Given the description of an element on the screen output the (x, y) to click on. 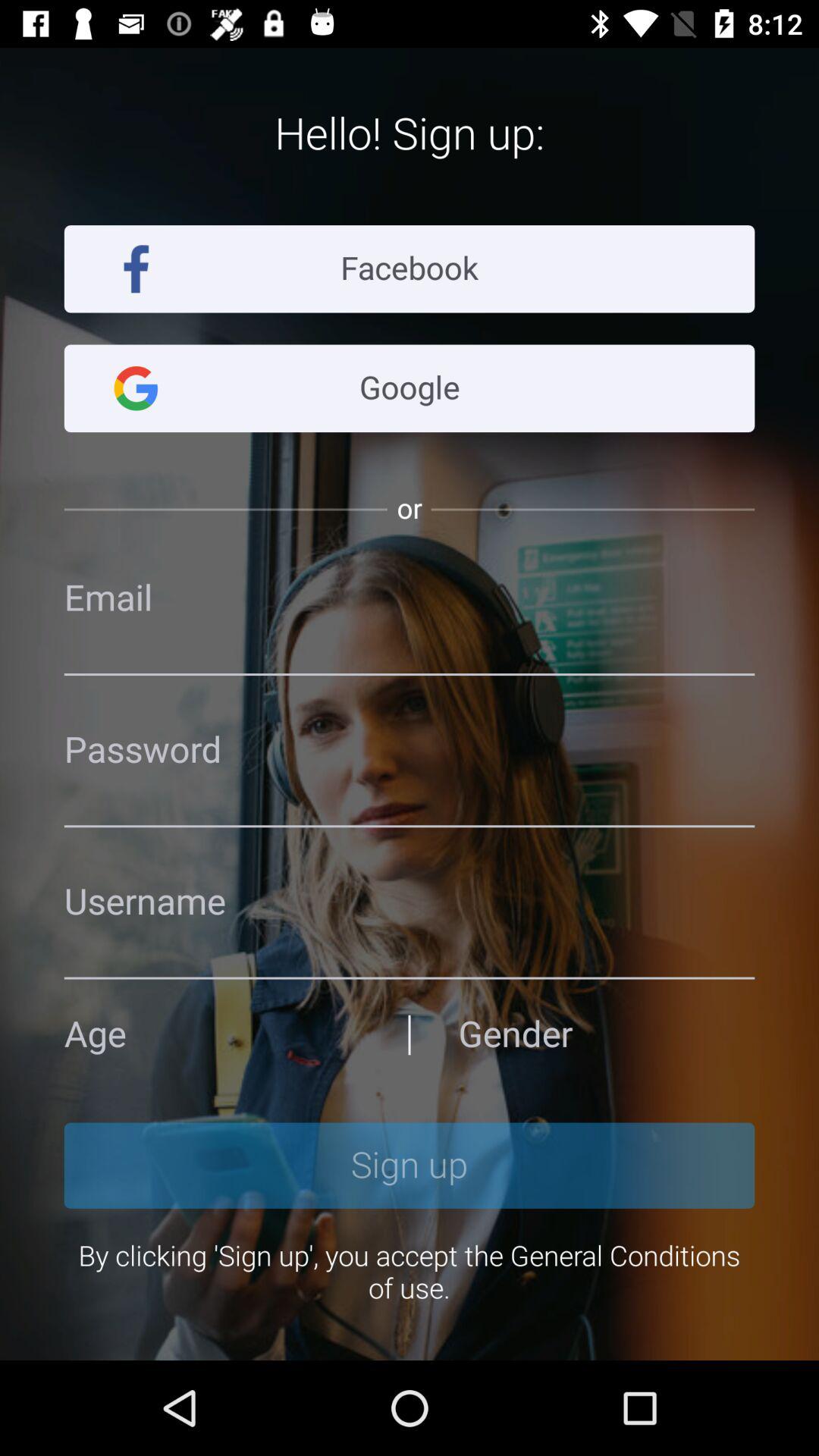
email the option (409, 598)
